Given the description of an element on the screen output the (x, y) to click on. 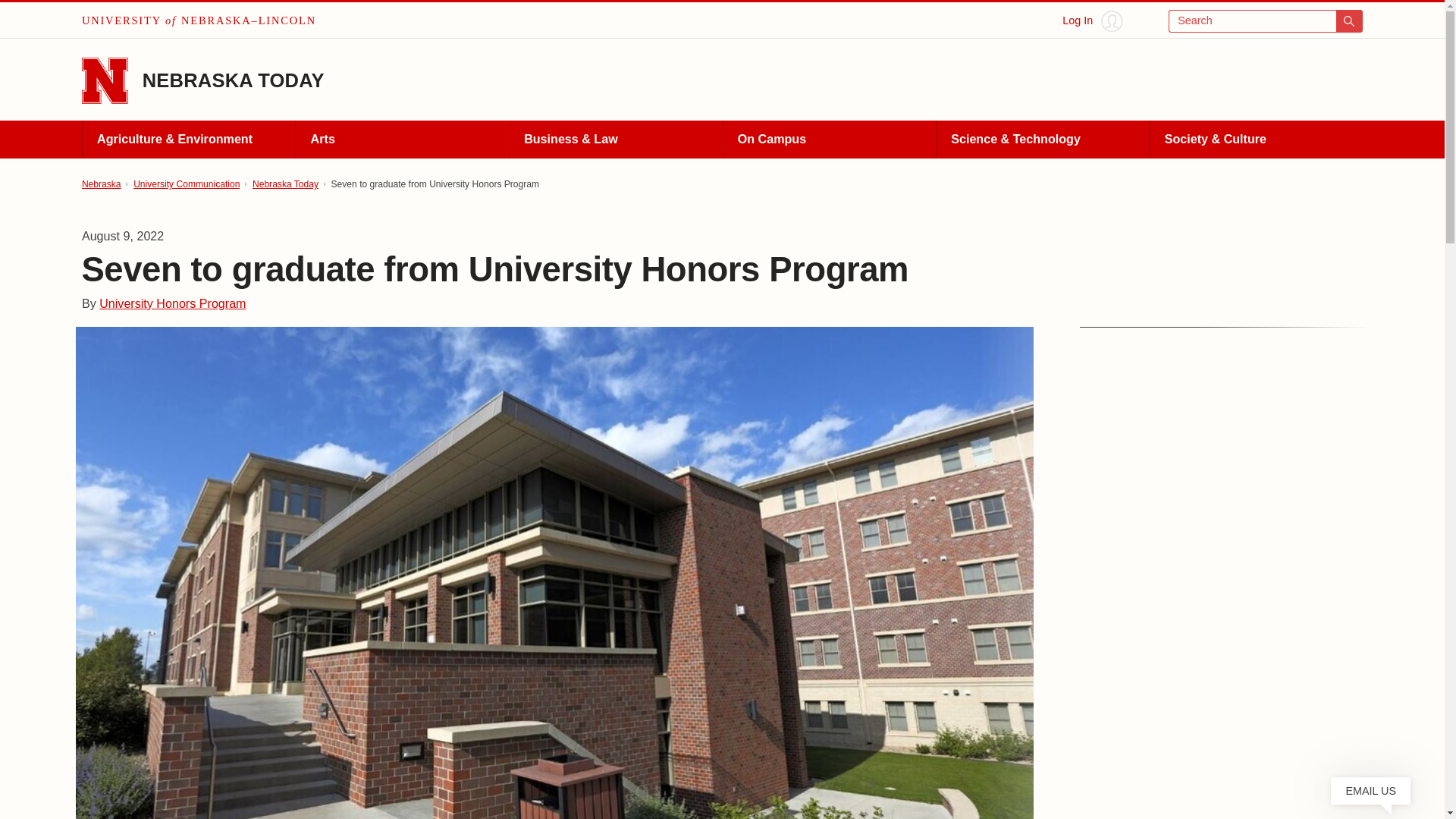
Arts (401, 139)
Log In (1092, 21)
University Communication (186, 183)
Search (1265, 21)
Nebraska Today (284, 183)
On Campus (829, 139)
Skip to main content (19, 16)
NEBRASKA TODAY (233, 79)
Nebraska (100, 183)
University Honors Program (172, 303)
